Given the description of an element on the screen output the (x, y) to click on. 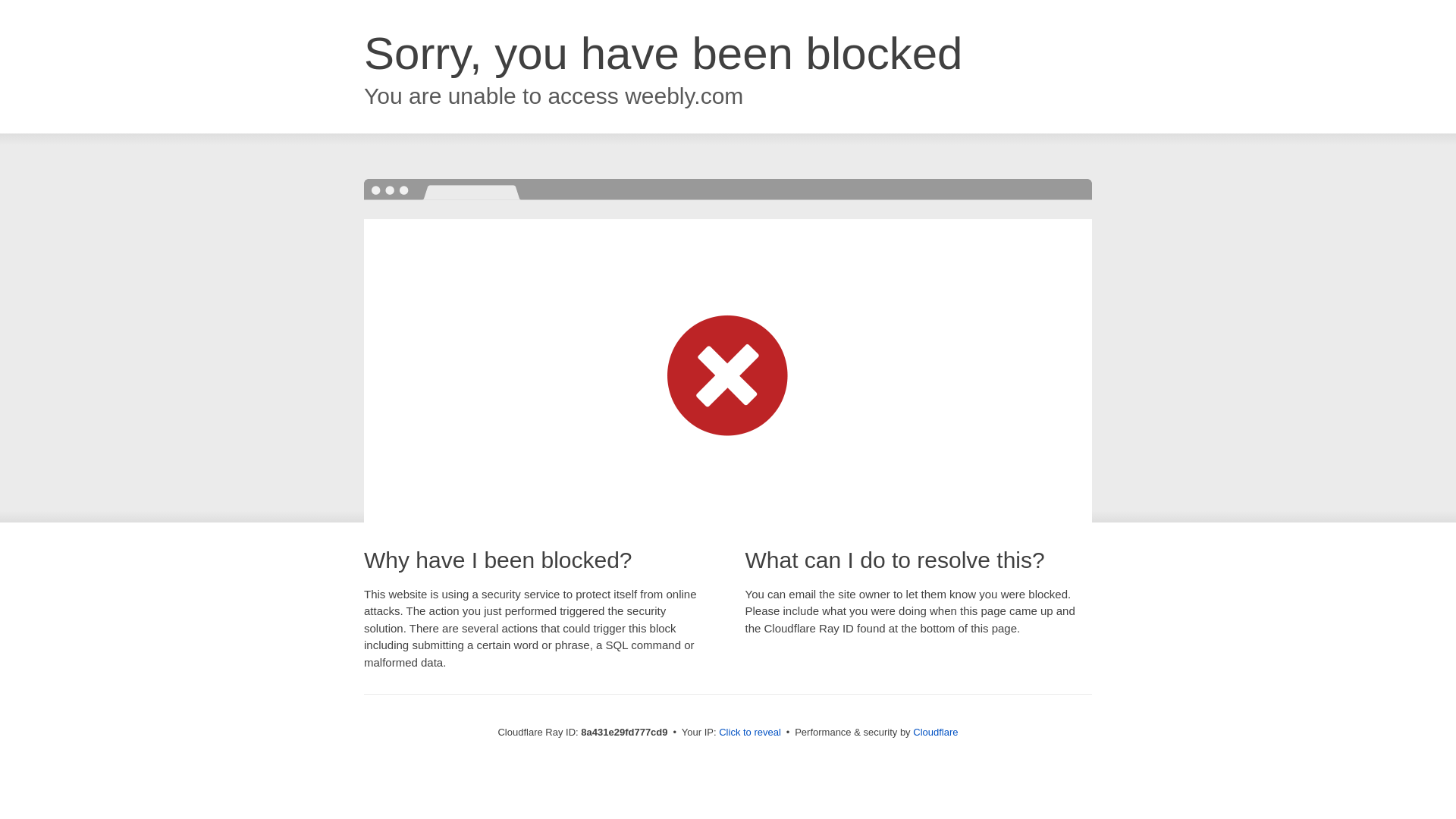
Click to reveal (749, 732)
Cloudflare (935, 731)
